Given the description of an element on the screen output the (x, y) to click on. 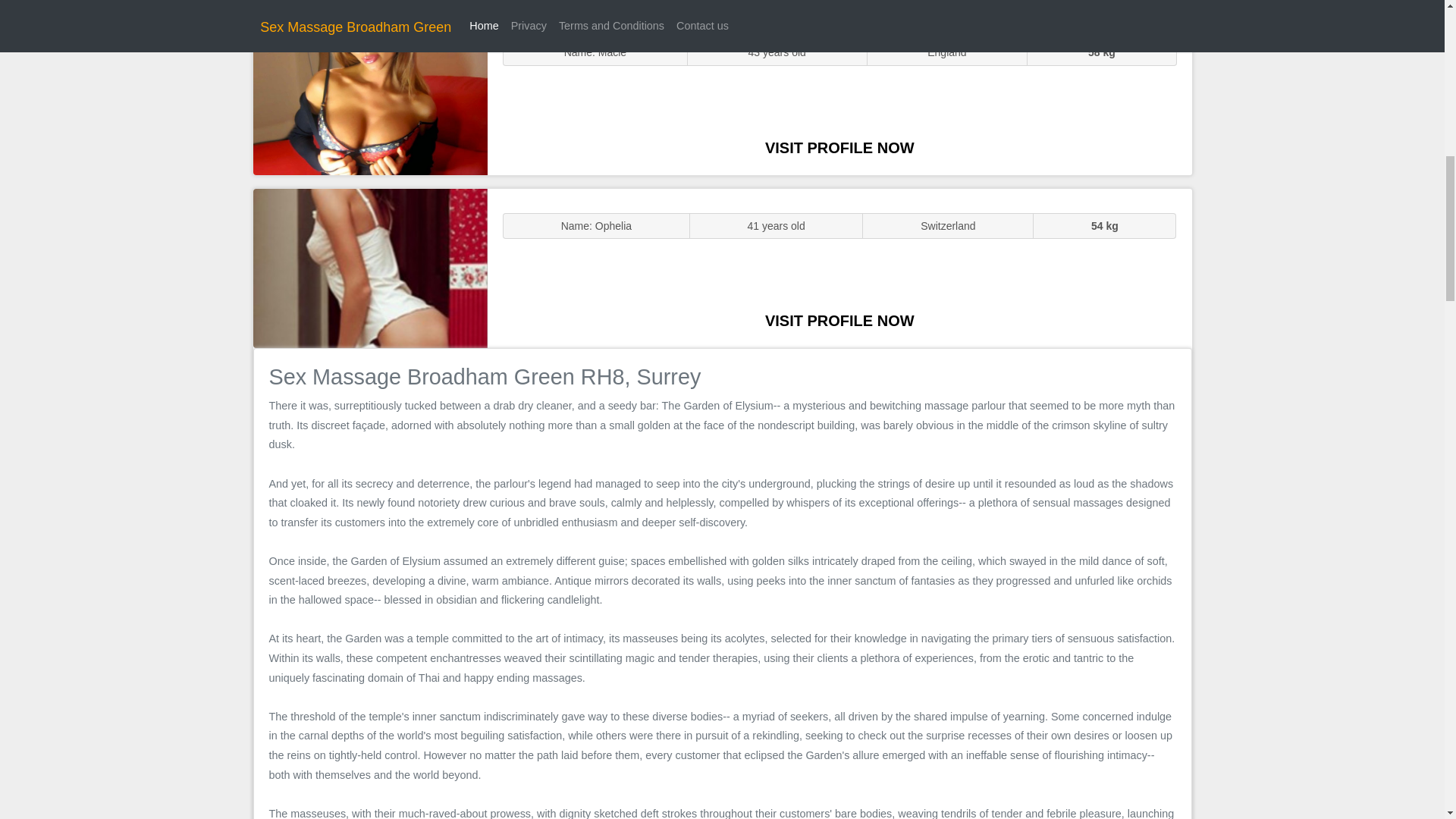
VISIT PROFILE NOW (839, 320)
VISIT PROFILE NOW (839, 147)
Sluts (370, 94)
Massage (370, 267)
